Given the description of an element on the screen output the (x, y) to click on. 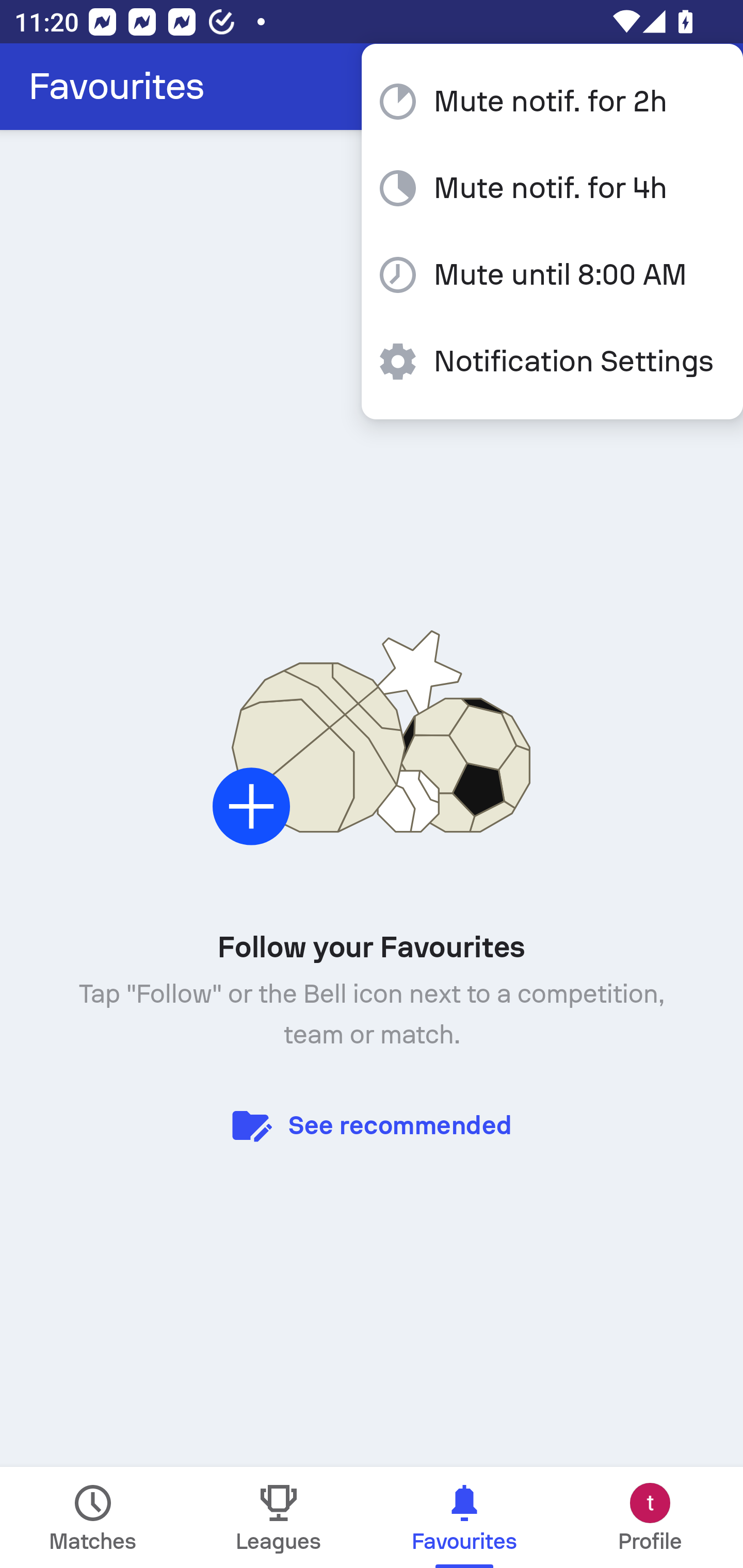
Mute notif. for 2h (552, 101)
Mute notif. for 4h (552, 188)
Mute until 8:00 AM (552, 275)
Notification Settings (552, 361)
